Given the description of an element on the screen output the (x, y) to click on. 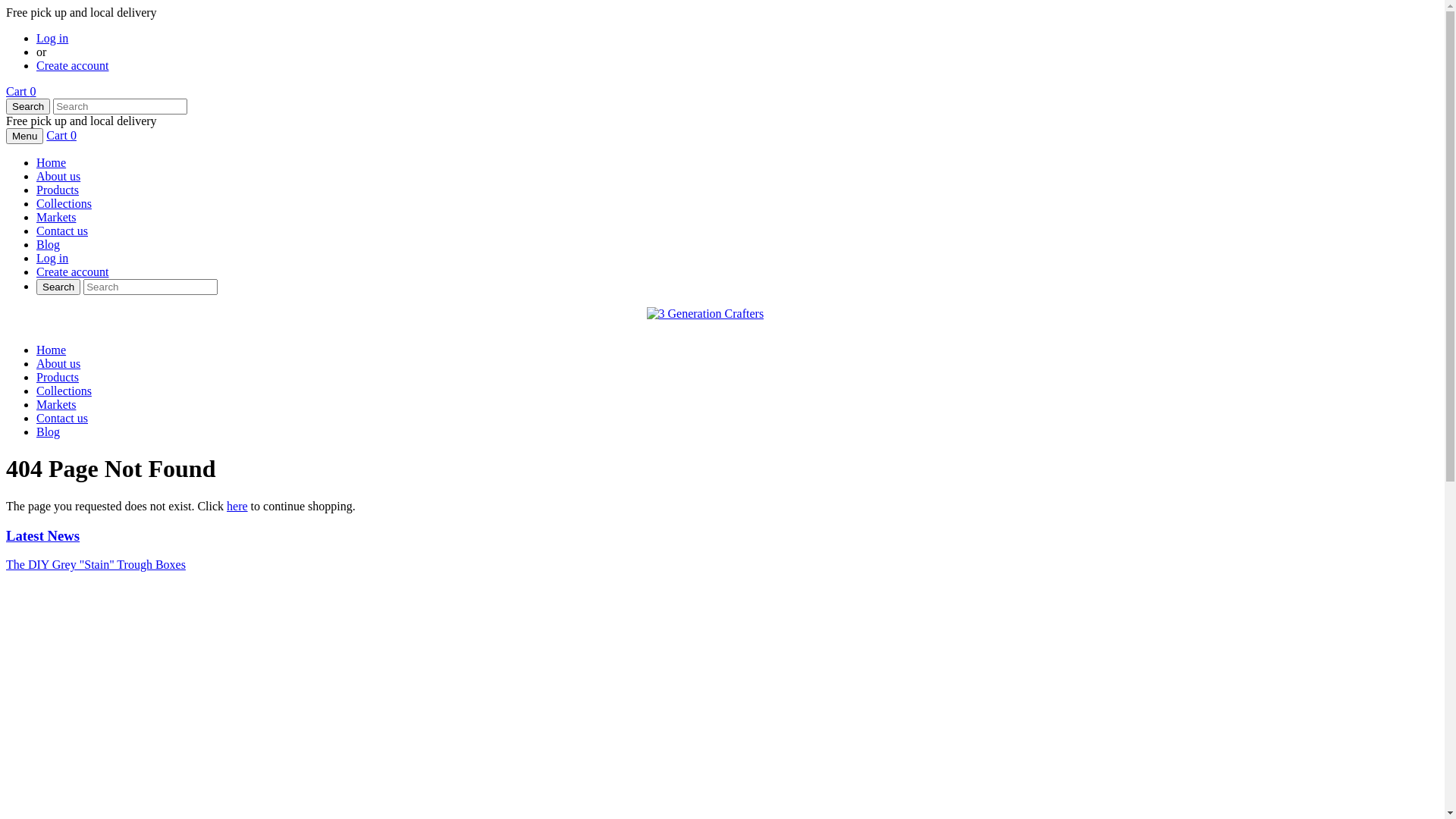
Products Element type: text (57, 189)
Markets Element type: text (55, 216)
Create account Element type: text (72, 271)
Collections Element type: text (63, 203)
Collections Element type: text (63, 390)
Log in Element type: text (52, 257)
Log in Element type: text (52, 37)
Blog Element type: text (47, 431)
Menu Element type: text (24, 136)
Create account Element type: text (72, 65)
Markets Element type: text (55, 404)
About us Element type: text (58, 363)
Products Element type: text (57, 376)
Contact us Element type: text (61, 230)
Search Element type: text (58, 286)
Cart 0 Element type: text (21, 90)
Home Element type: text (50, 162)
Latest News Element type: text (42, 535)
The DIY Grey "Stain" Trough Boxes Element type: text (95, 564)
Home Element type: text (50, 349)
here Element type: text (236, 505)
Contact us Element type: text (61, 417)
Blog Element type: text (47, 244)
Cart 0 Element type: text (61, 134)
About us Element type: text (58, 175)
Search Element type: text (28, 106)
